Given the description of an element on the screen output the (x, y) to click on. 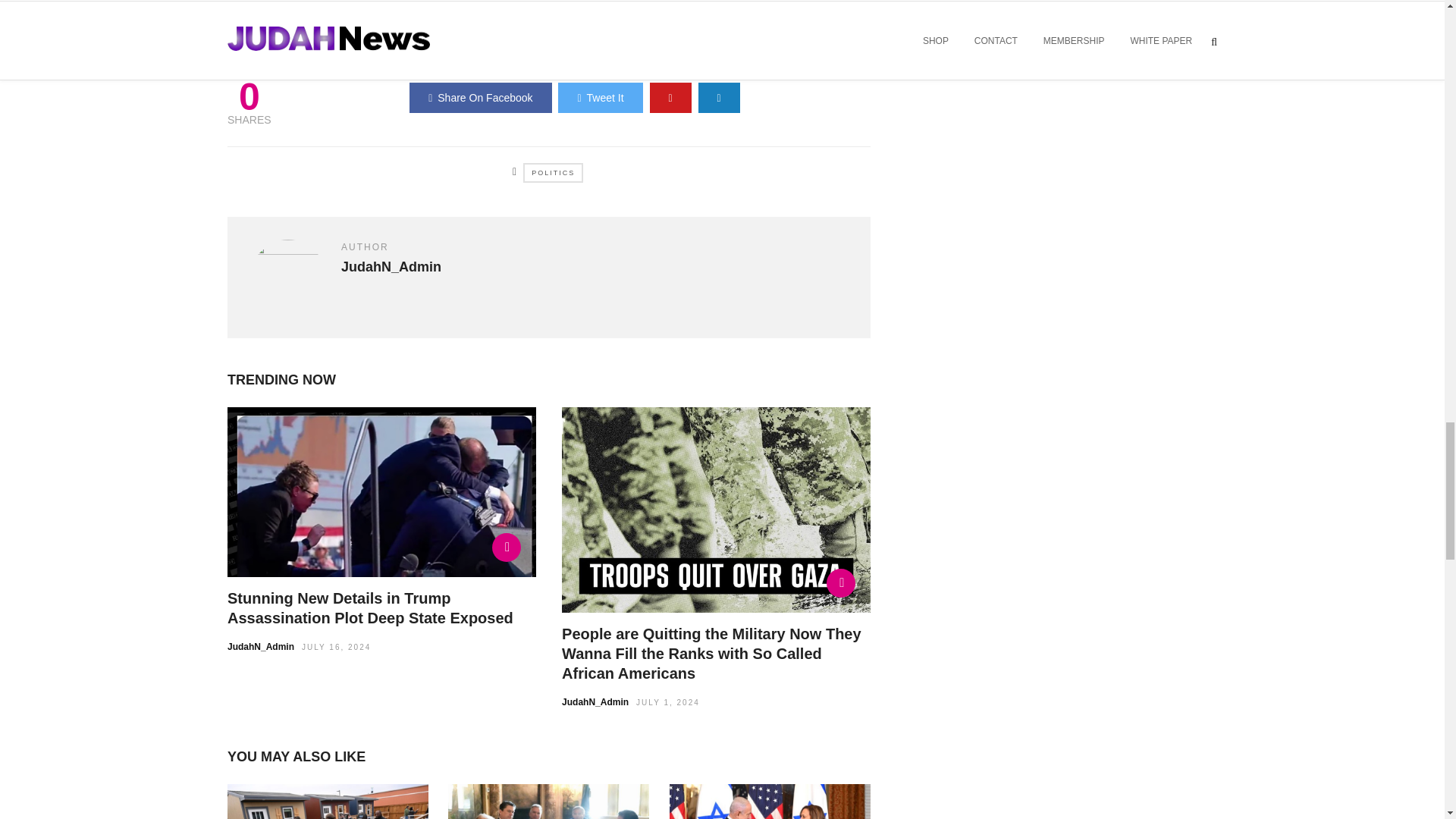
Share On Pinterest (670, 97)
Tweet It (599, 97)
Share On Facebook (480, 97)
Share On Twitter (599, 97)
POLITICS (552, 172)
Share by Email (718, 97)
Share On Facebook (480, 97)
